Given the description of an element on the screen output the (x, y) to click on. 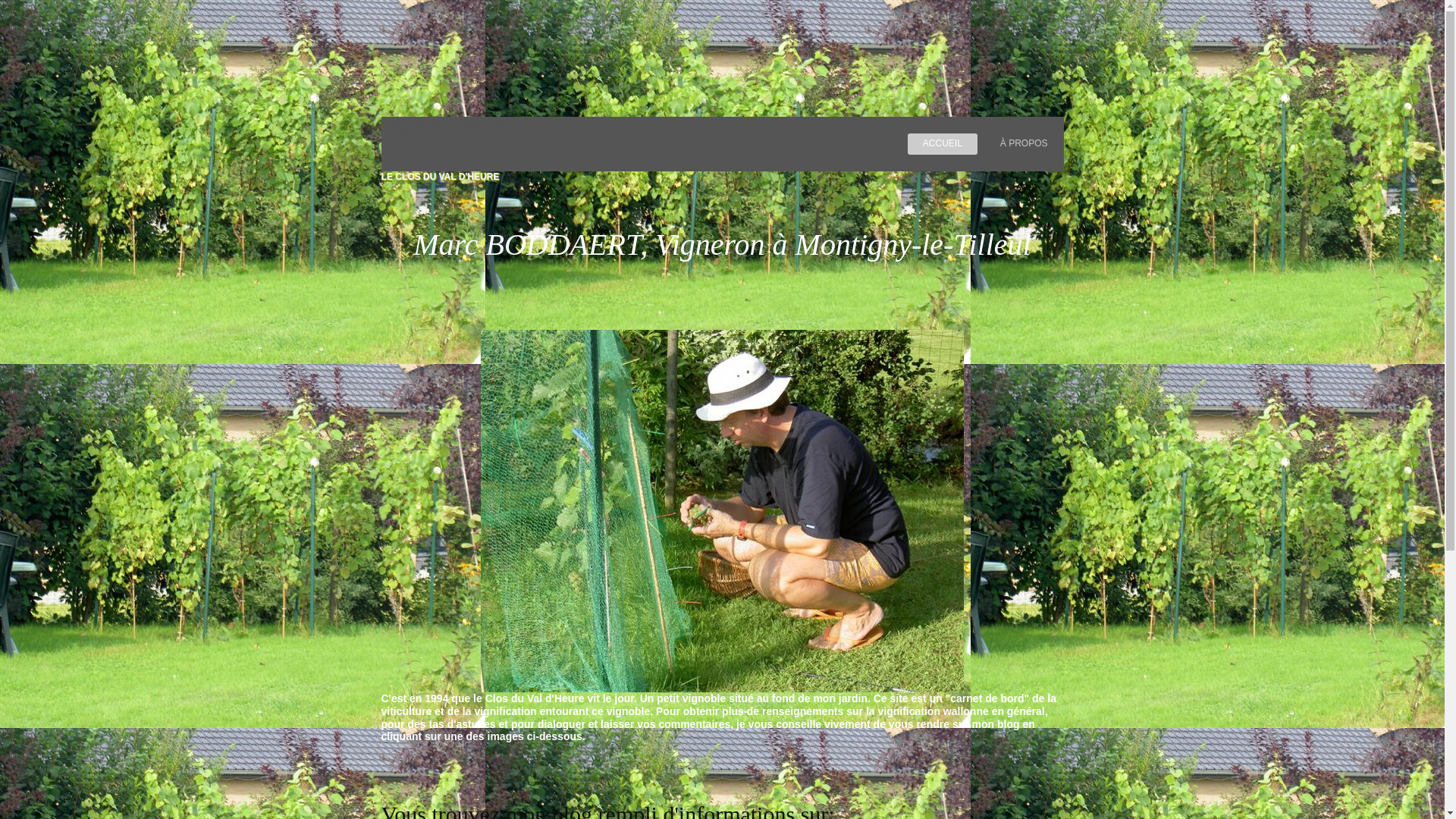
Advertisement Element type: hover (276, 79)
ACCUEIL Element type: text (942, 143)
